Given the description of an element on the screen output the (x, y) to click on. 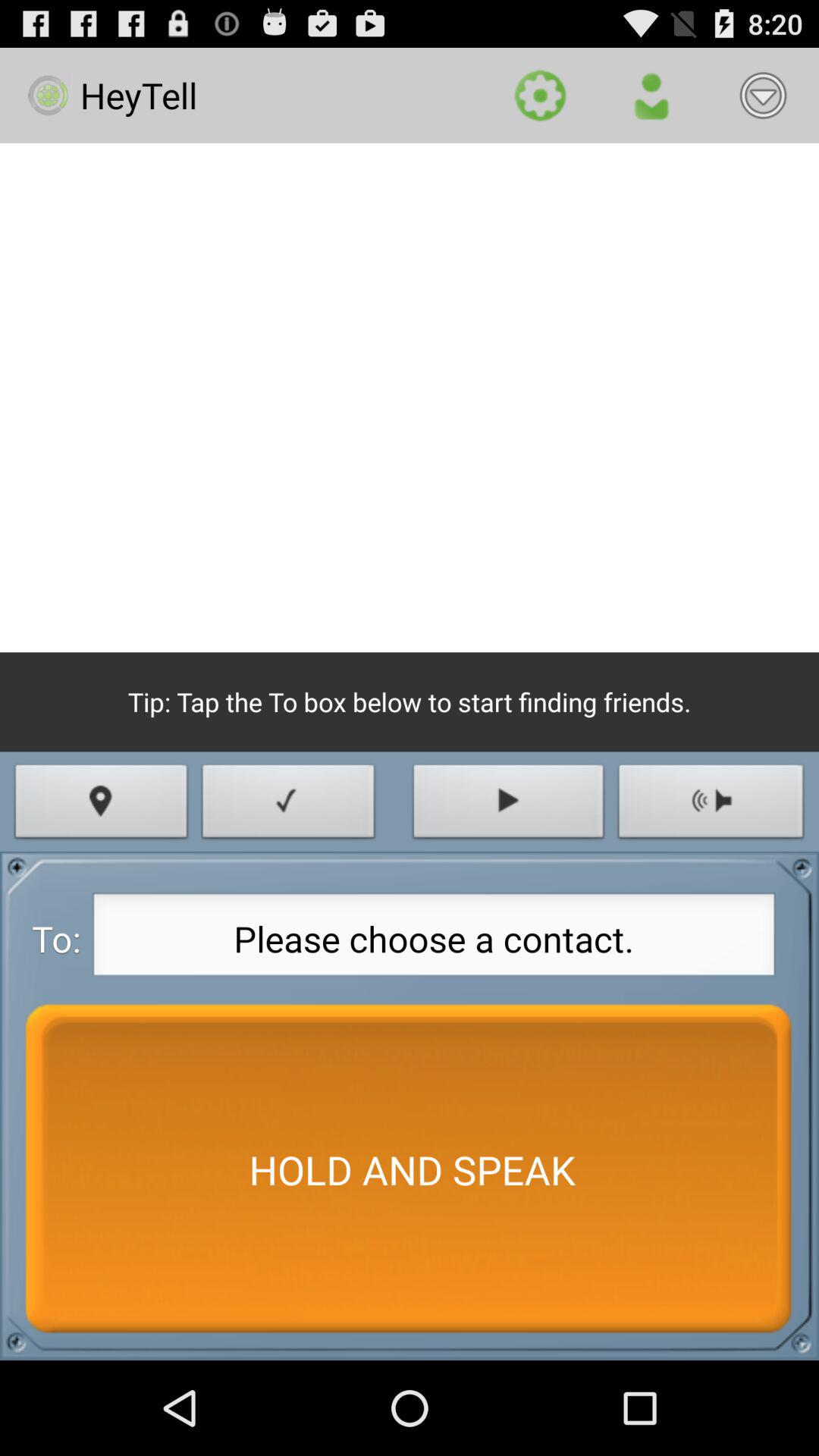
launch the item below please choose a icon (409, 1169)
